Given the description of an element on the screen output the (x, y) to click on. 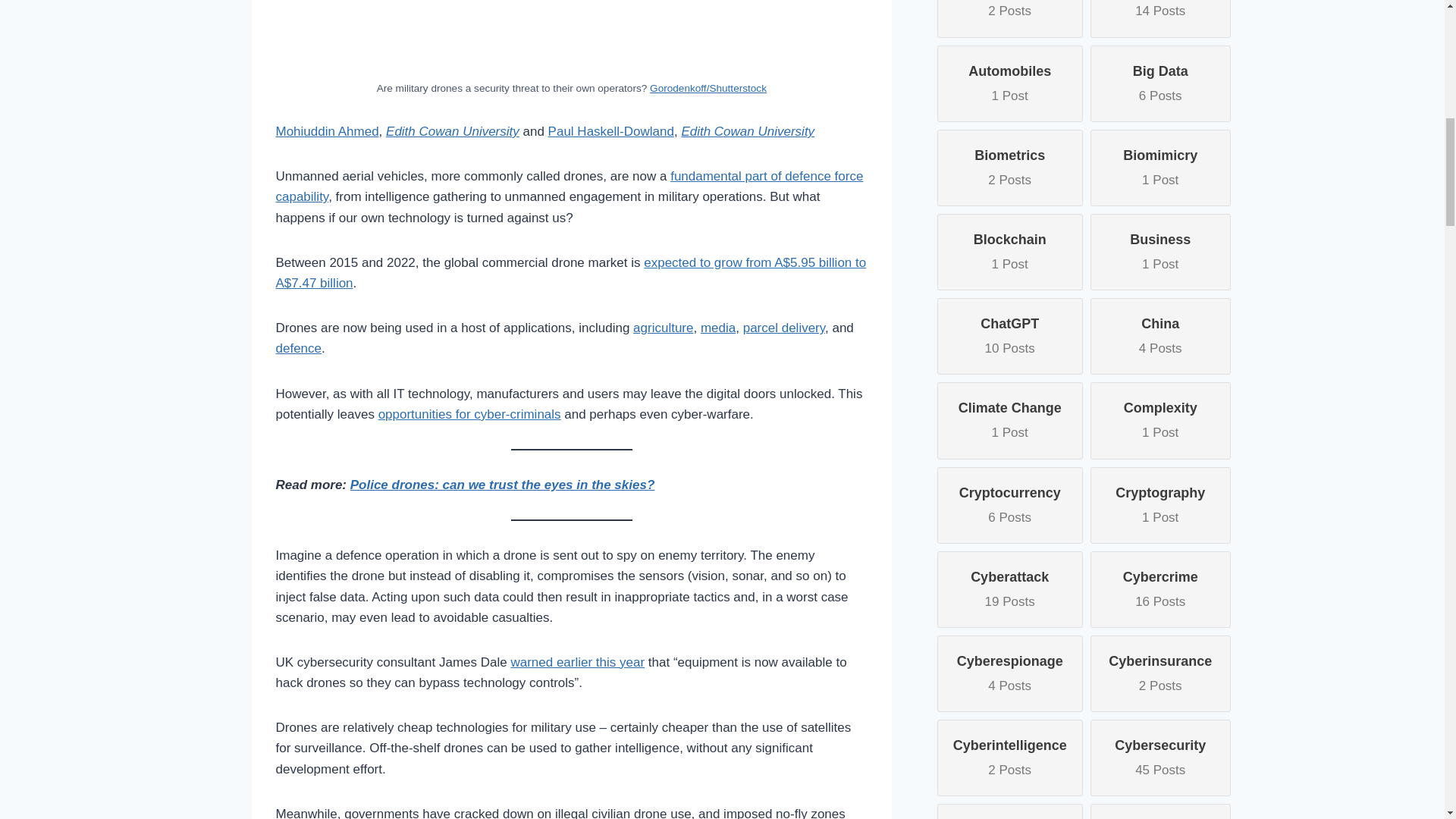
fundamental part of defence force capability (569, 185)
parcel delivery (783, 327)
Mohiuddin Ahmed (327, 131)
Edith Cowan University (747, 131)
media (717, 327)
Edith Cowan University (452, 131)
Paul Haskell-Dowland (611, 131)
agriculture (663, 327)
defence (298, 348)
